Given the description of an element on the screen output the (x, y) to click on. 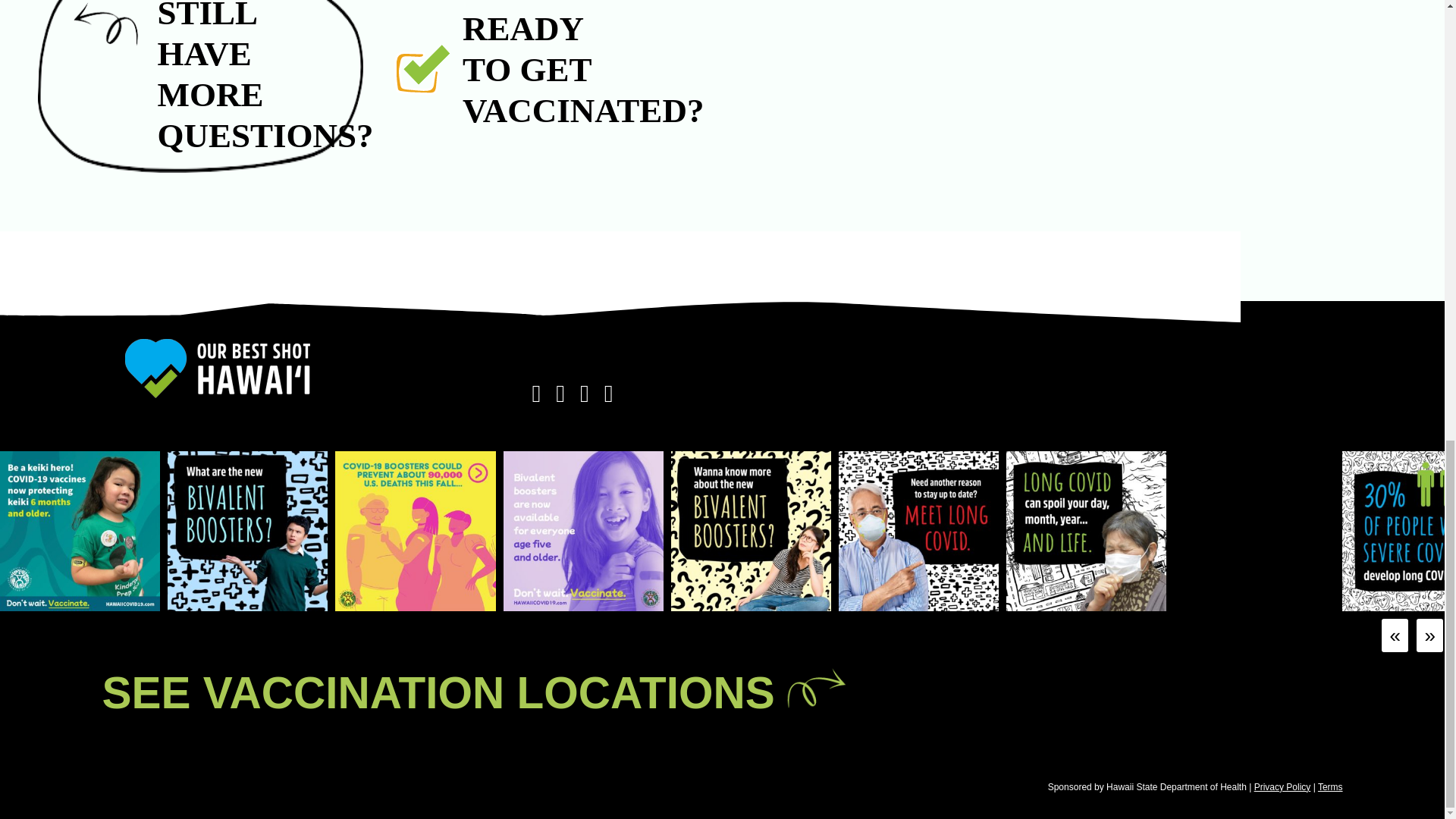
STILL HAVE MORE QUESTIONS? (200, 86)
READY TO GET VACCINATED? (507, 69)
